Given the description of an element on the screen output the (x, y) to click on. 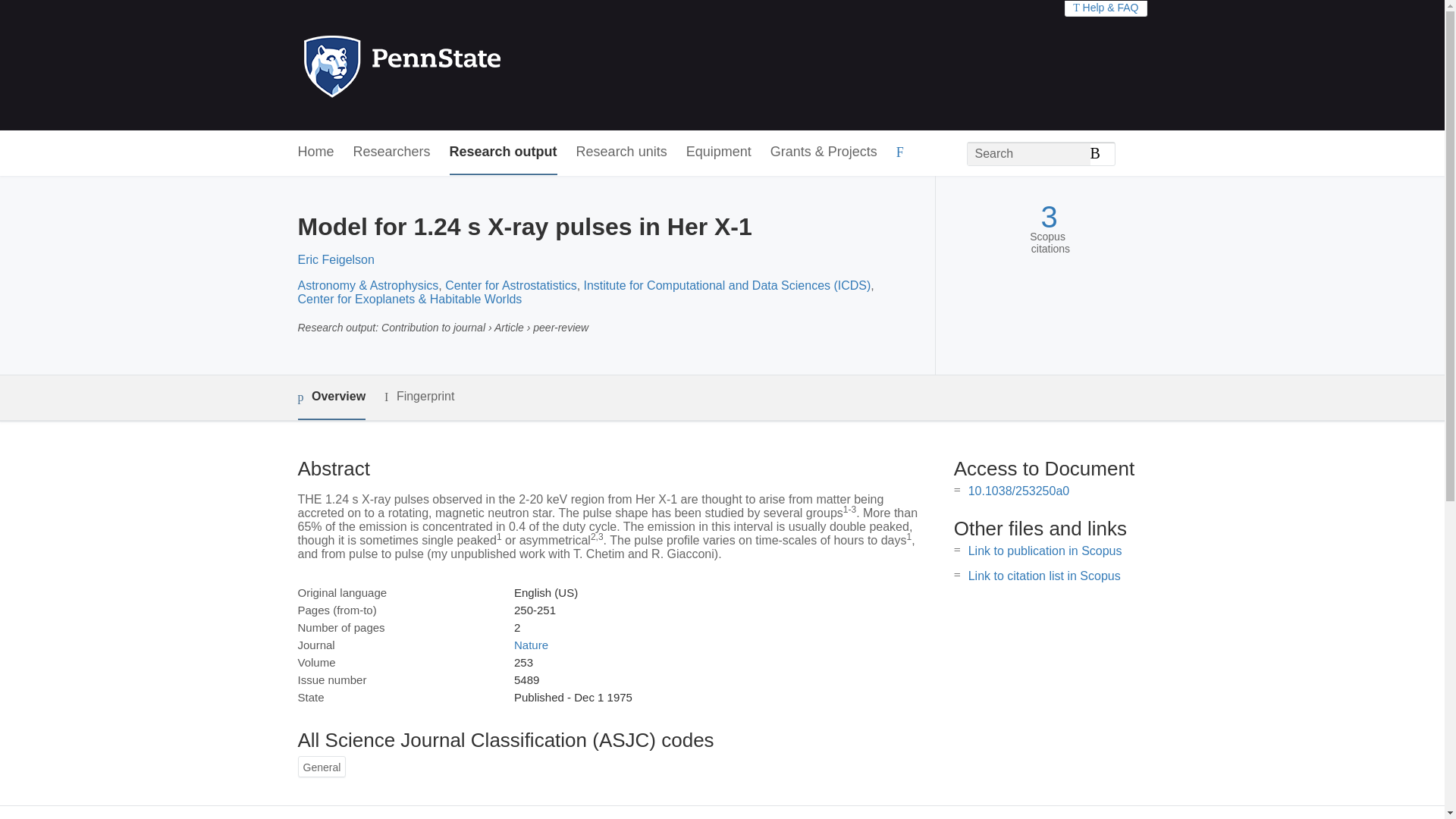
Link to citation list in Scopus (1044, 575)
Overview (331, 397)
Center for Astrostatistics (510, 285)
Nature (530, 644)
Penn State Home (467, 65)
Research units (621, 152)
Research output (503, 152)
Equipment (718, 152)
Researchers (391, 152)
Eric Feigelson (335, 259)
Fingerprint (419, 396)
Link to publication in Scopus (1045, 550)
